Given the description of an element on the screen output the (x, y) to click on. 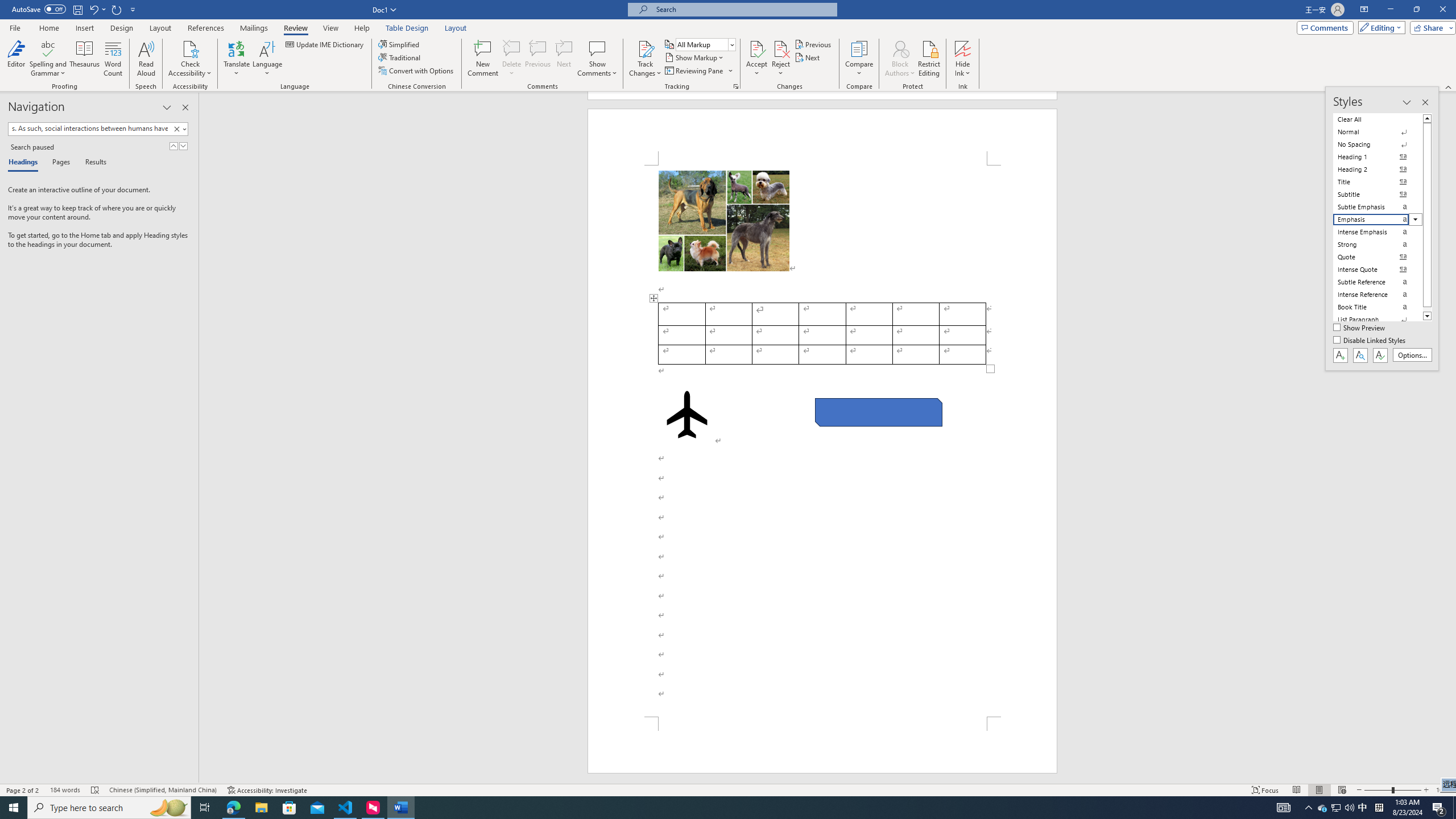
Traditional (400, 56)
Word Count 184 words (64, 790)
Restrict Editing (929, 58)
Update IME Dictionary... (324, 44)
Show Preview (1360, 328)
Undo Style (96, 9)
Spelling and Grammar (48, 48)
Airplane with solid fill (686, 414)
